Given the description of an element on the screen output the (x, y) to click on. 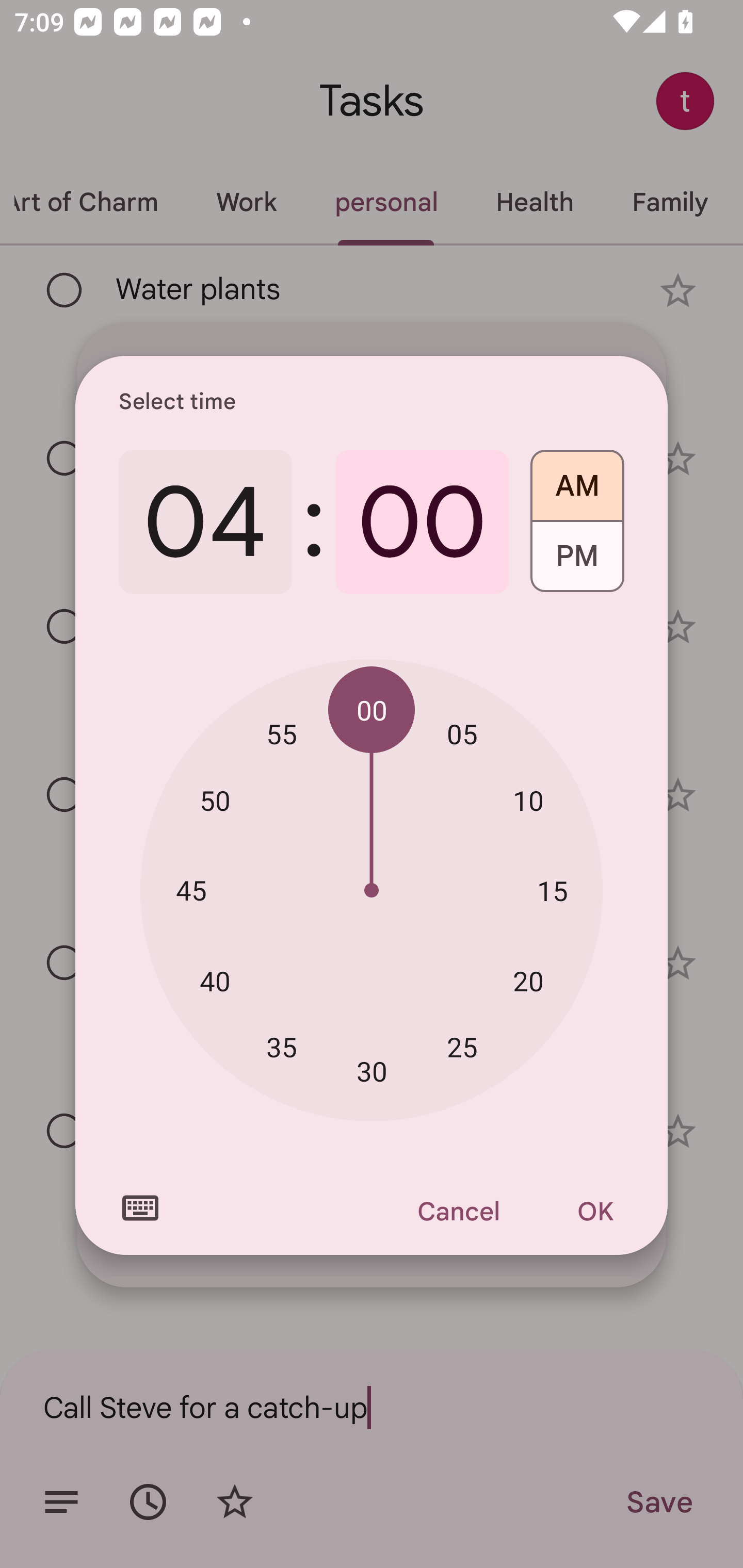
AM (577, 478)
04 4 o'clock (204, 522)
00 0 minutes (421, 522)
PM (577, 563)
00 00 minutes (371, 710)
55 55 minutes (281, 733)
05 05 minutes (462, 733)
50 50 minutes (214, 800)
10 10 minutes (528, 800)
45 45 minutes (190, 889)
15 15 minutes (551, 890)
40 40 minutes (214, 980)
20 20 minutes (528, 980)
35 35 minutes (281, 1046)
25 25 minutes (462, 1046)
30 30 minutes (371, 1071)
Switch to text input mode for the time input. (140, 1208)
Cancel (458, 1211)
OK (595, 1211)
